Given the description of an element on the screen output the (x, y) to click on. 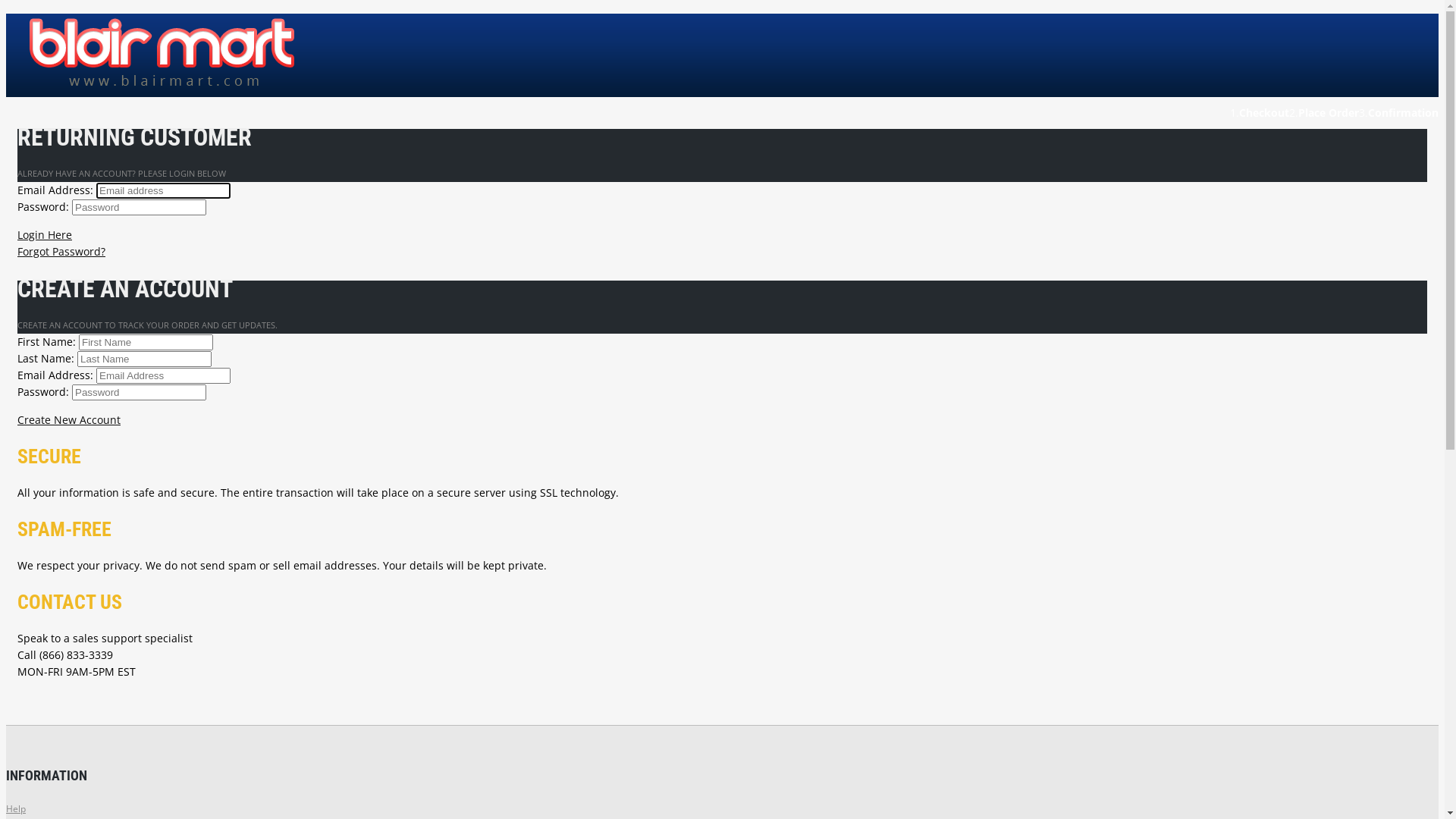
Help Element type: text (15, 808)
Create New Account Element type: text (722, 419)
Forgot Password? Element type: text (61, 251)
Login Here Element type: text (722, 234)
Blair Mart Element type: hover (166, 55)
